Given the description of an element on the screen output the (x, y) to click on. 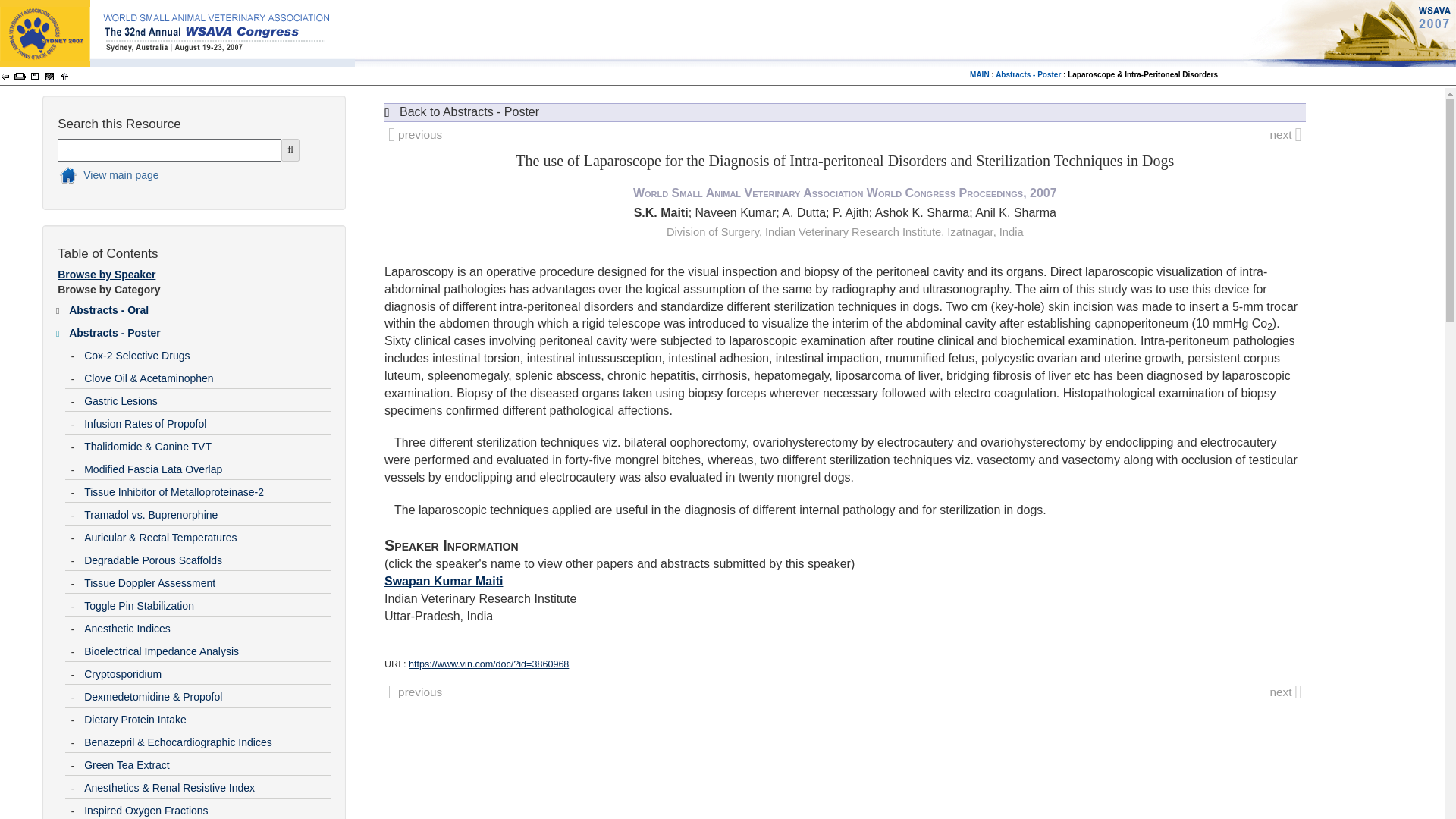
Browse by Speaker (106, 274)
MAIN (979, 74)
Abstracts - Poster (1028, 74)
Infusion Rates of Propofol (206, 420)
Tramadol vs. Buprenorphine (206, 511)
View main page (180, 177)
Cox-2 Selective Drugs (206, 352)
Tissue Inhibitor of Metalloproteinase-2 (206, 488)
Gastric Lesions (206, 398)
Abstracts - Poster (198, 330)
